Given the description of an element on the screen output the (x, y) to click on. 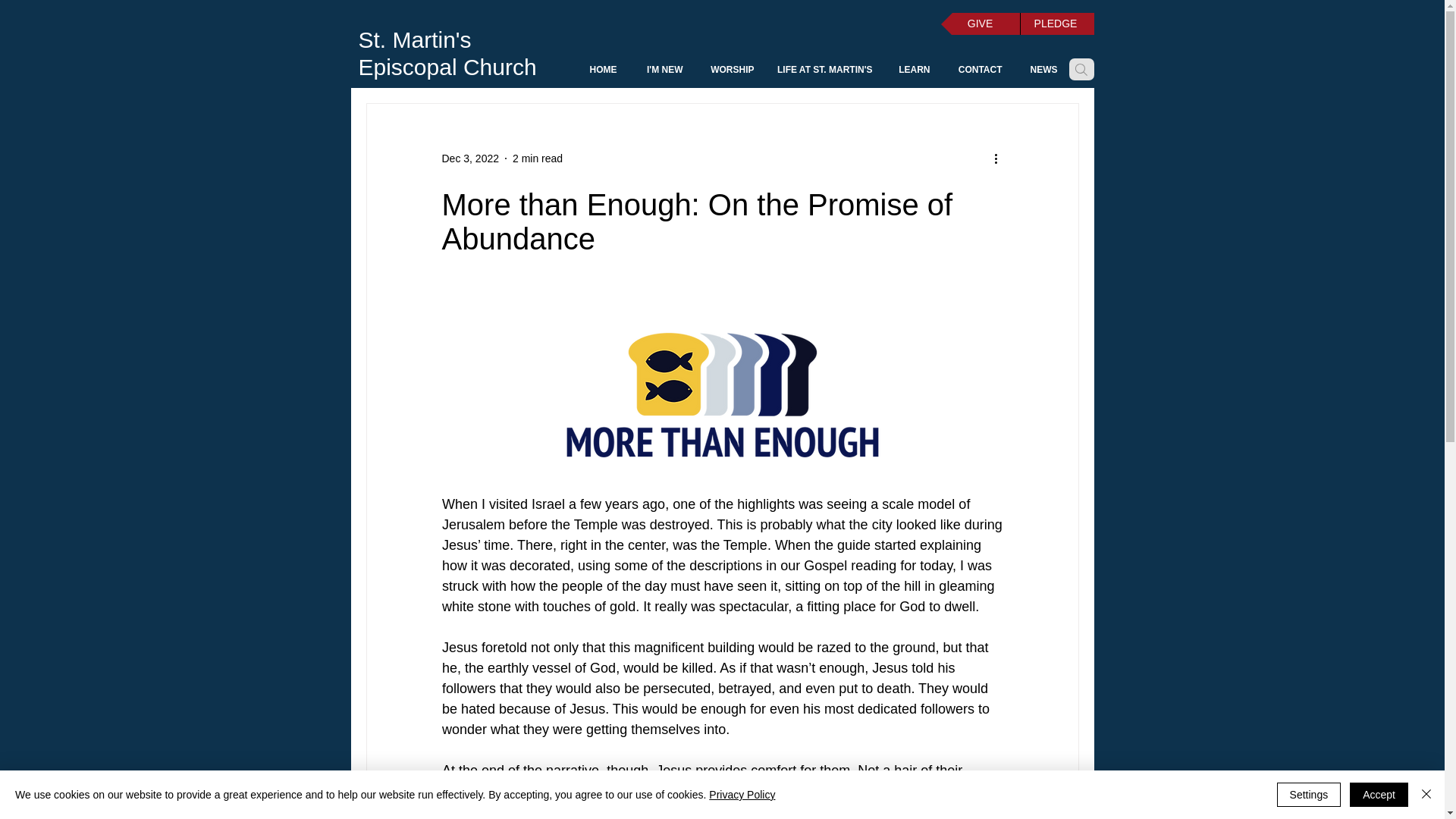
CONTACT (977, 69)
PLEDGE (1056, 24)
I'M NEW (660, 69)
WORSHIP (729, 69)
HOME (599, 69)
NEWS (1040, 69)
2 min read (537, 157)
LIFE AT ST. MARTIN'S (824, 69)
St. Martin's (414, 39)
Dec 3, 2022 (470, 157)
